Given the description of an element on the screen output the (x, y) to click on. 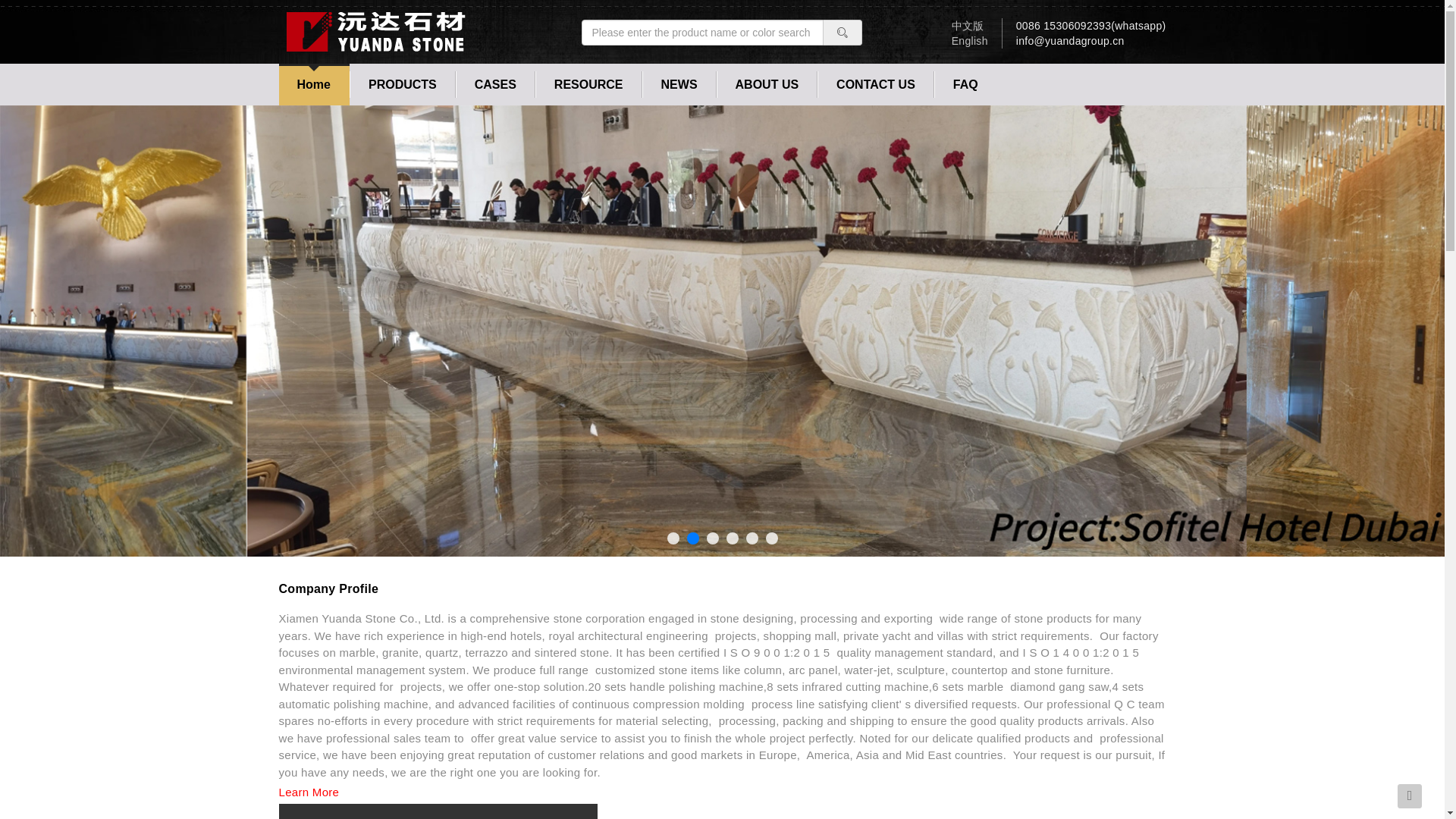
RESOURCE (588, 84)
NEWS (679, 84)
PRODUCTS (402, 84)
English (970, 40)
Equipment (626, 120)
Home (314, 84)
Natural Marble (440, 120)
projects (546, 120)
CASES (495, 84)
Natural Granite (440, 121)
